Given the description of an element on the screen output the (x, y) to click on. 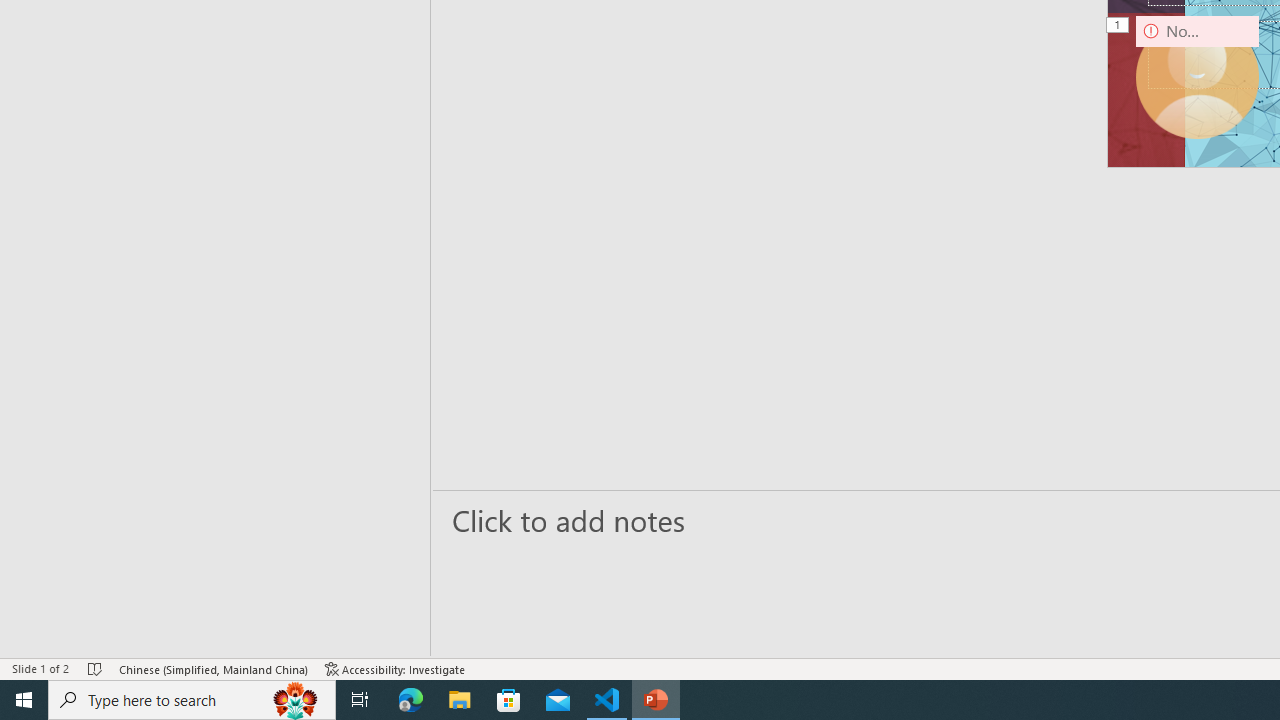
Animation, sequence 1, on Camera 9 (1118, 26)
Camera 9, No camera detected. (1197, 77)
